Given the description of an element on the screen output the (x, y) to click on. 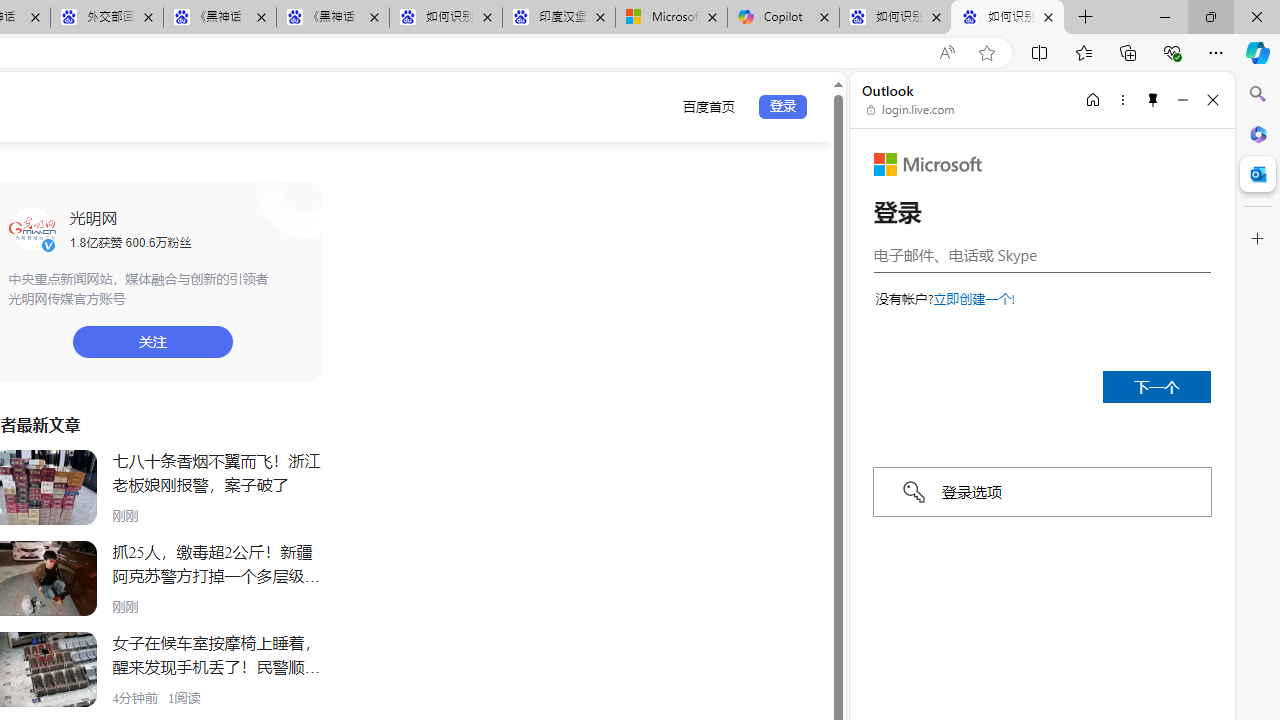
Copilot (783, 17)
